Given the description of an element on the screen output the (x, y) to click on. 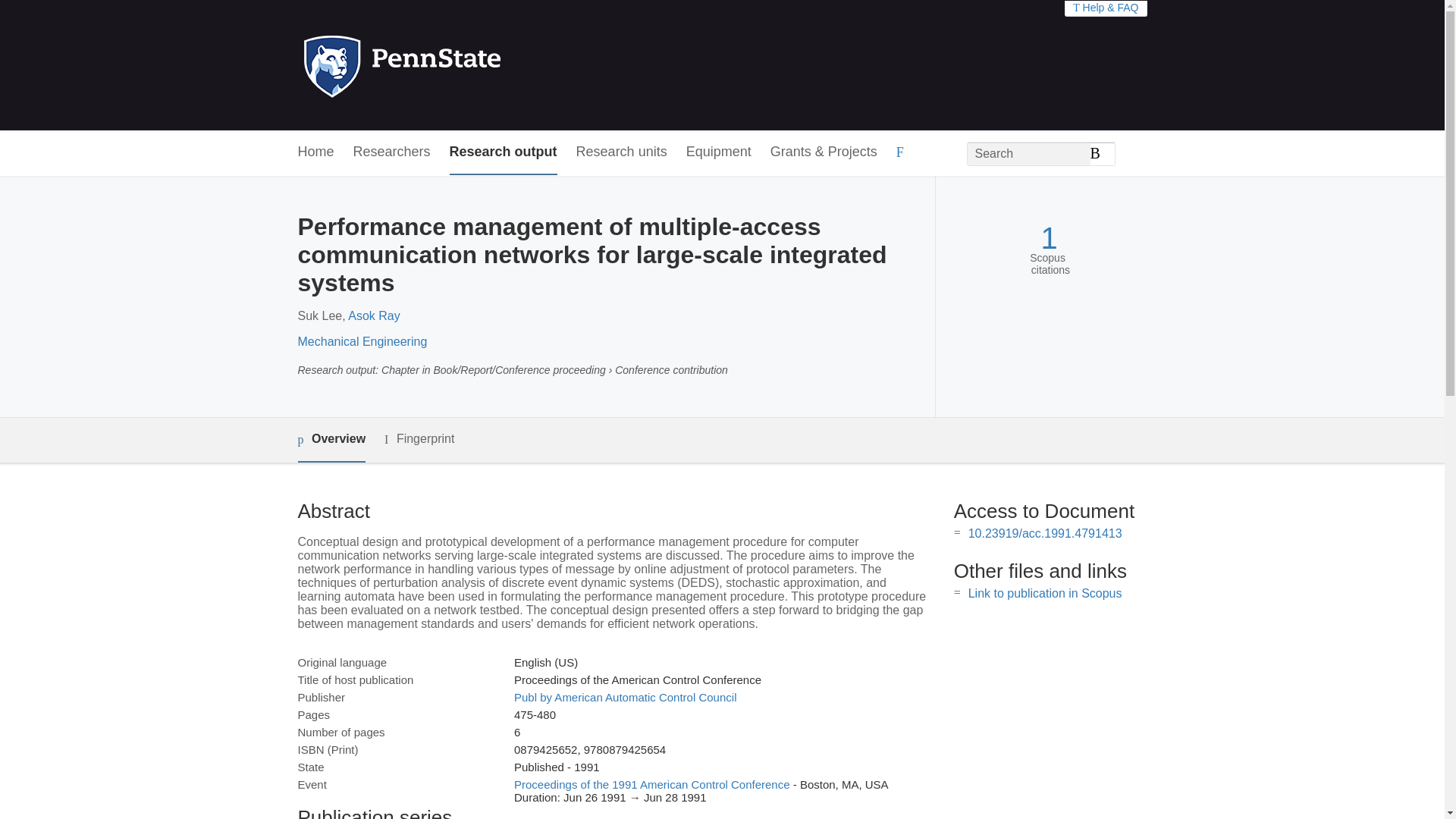
Researchers (391, 152)
Research units (621, 152)
Fingerprint (419, 439)
Overview (331, 439)
Publ by American Automatic Control Council (624, 697)
Equipment (718, 152)
Penn State Home (467, 65)
Proceedings of the 1991 American Control Conference (651, 784)
Link to publication in Scopus (1045, 593)
